Given the description of an element on the screen output the (x, y) to click on. 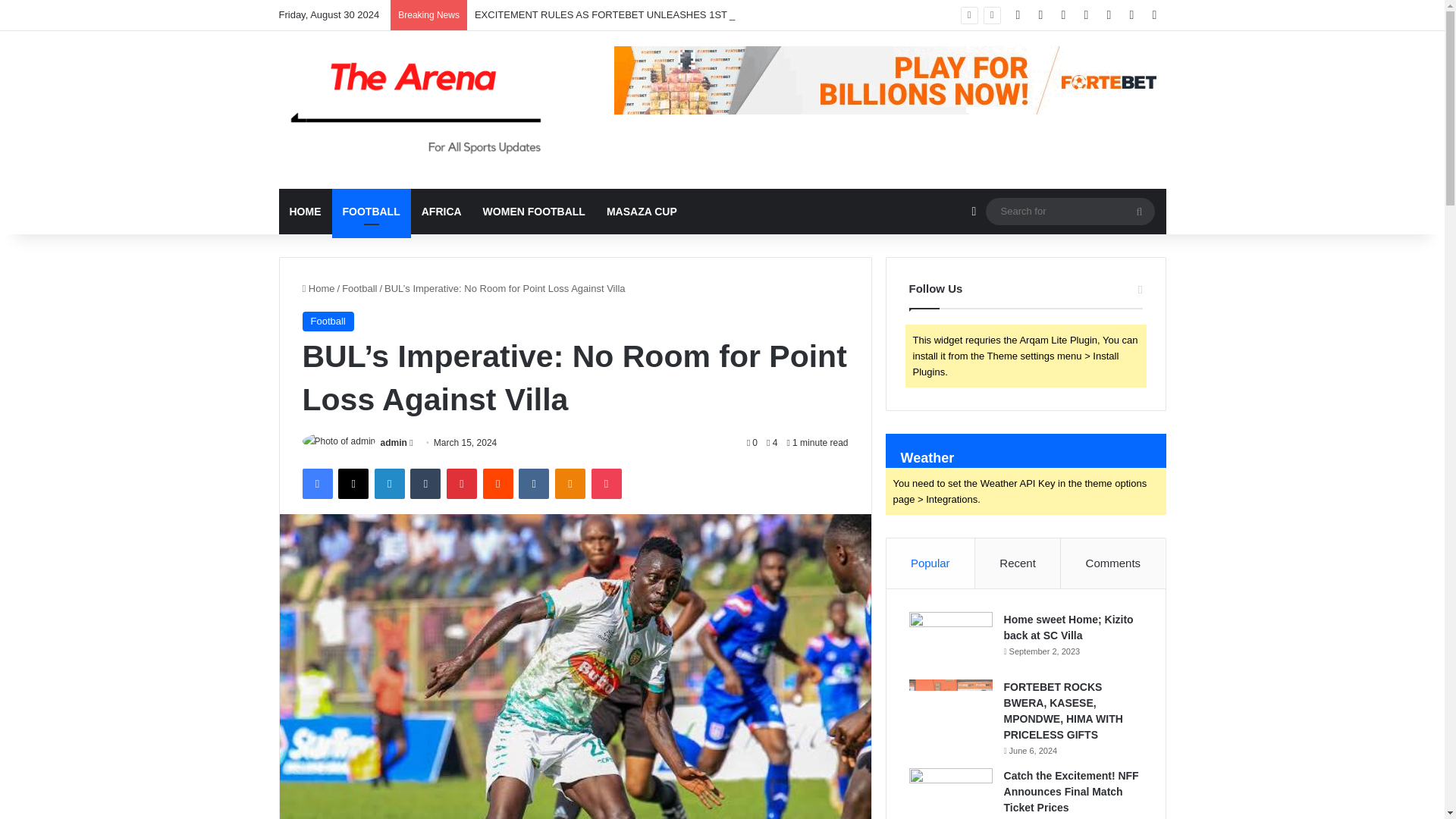
X (352, 483)
AFRICA (440, 211)
Football (359, 288)
Facebook (316, 483)
FOOTBALL (370, 211)
Reddit (498, 483)
X (352, 483)
MASAZA CUP (641, 211)
WOMEN FOOTBALL (533, 211)
Pinterest (461, 483)
